Given the description of an element on the screen output the (x, y) to click on. 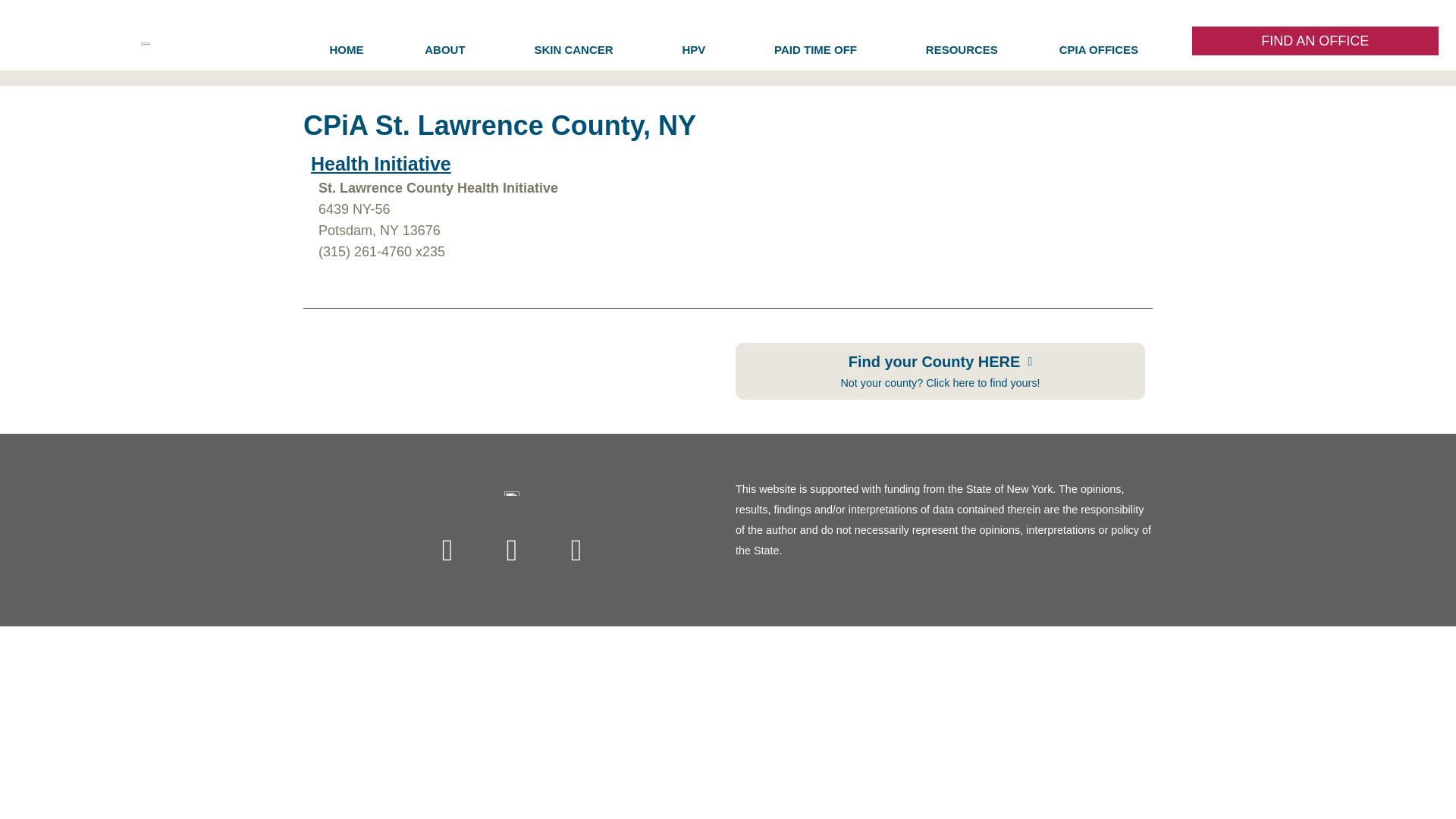
HPV (697, 49)
ABOUT (448, 49)
RESOURCES (961, 49)
SKIN CANCER (576, 49)
FIND AN OFFICE (1315, 40)
CPIA OFFICES (1101, 49)
Health Initiative (381, 163)
PAID TIME OFF (819, 49)
HOME (346, 49)
